Given the description of an element on the screen output the (x, y) to click on. 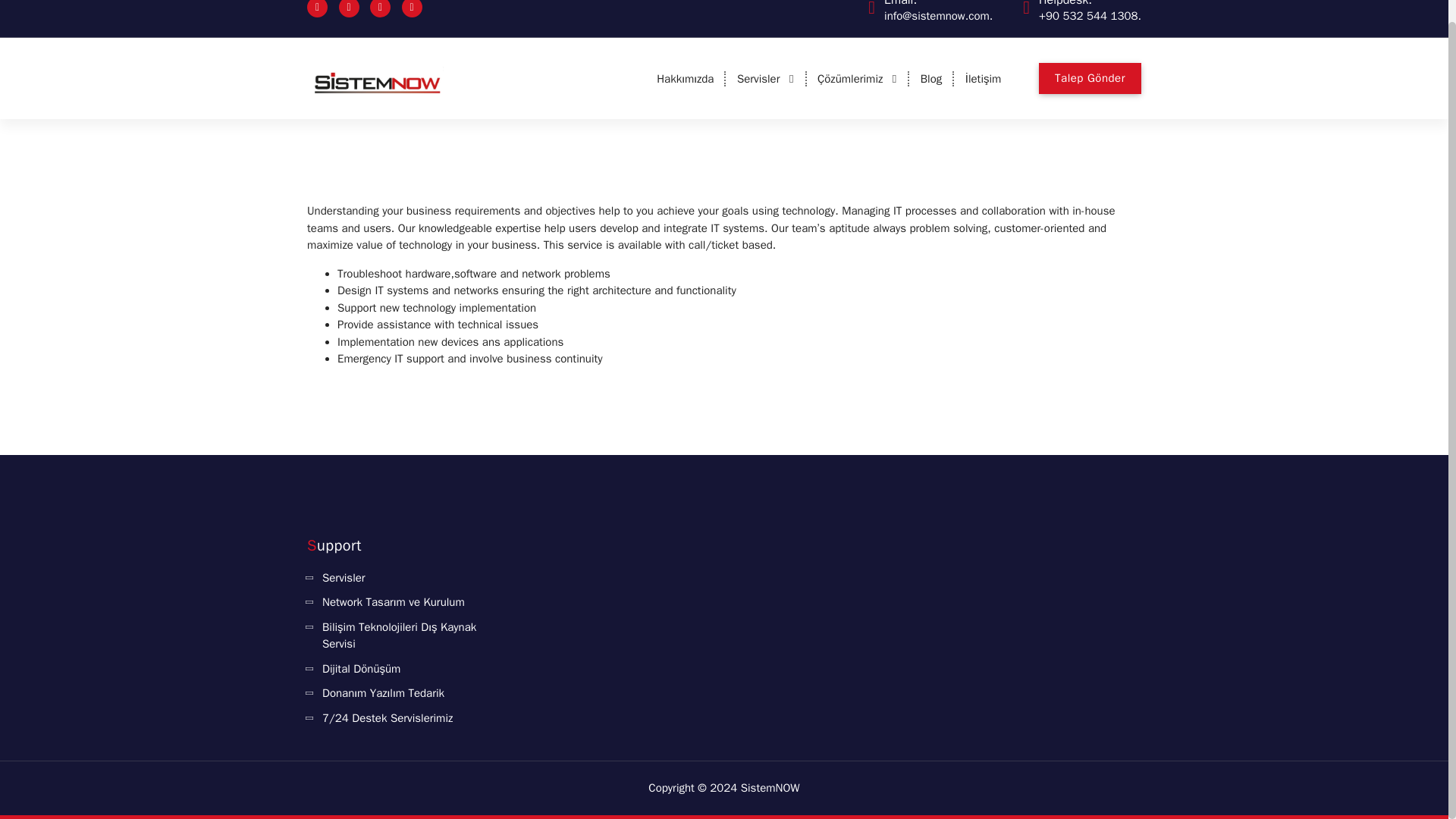
Servisler (765, 78)
Blog (930, 78)
Servisler (765, 78)
Blog (930, 78)
Servisler (336, 578)
